Given the description of an element on the screen output the (x, y) to click on. 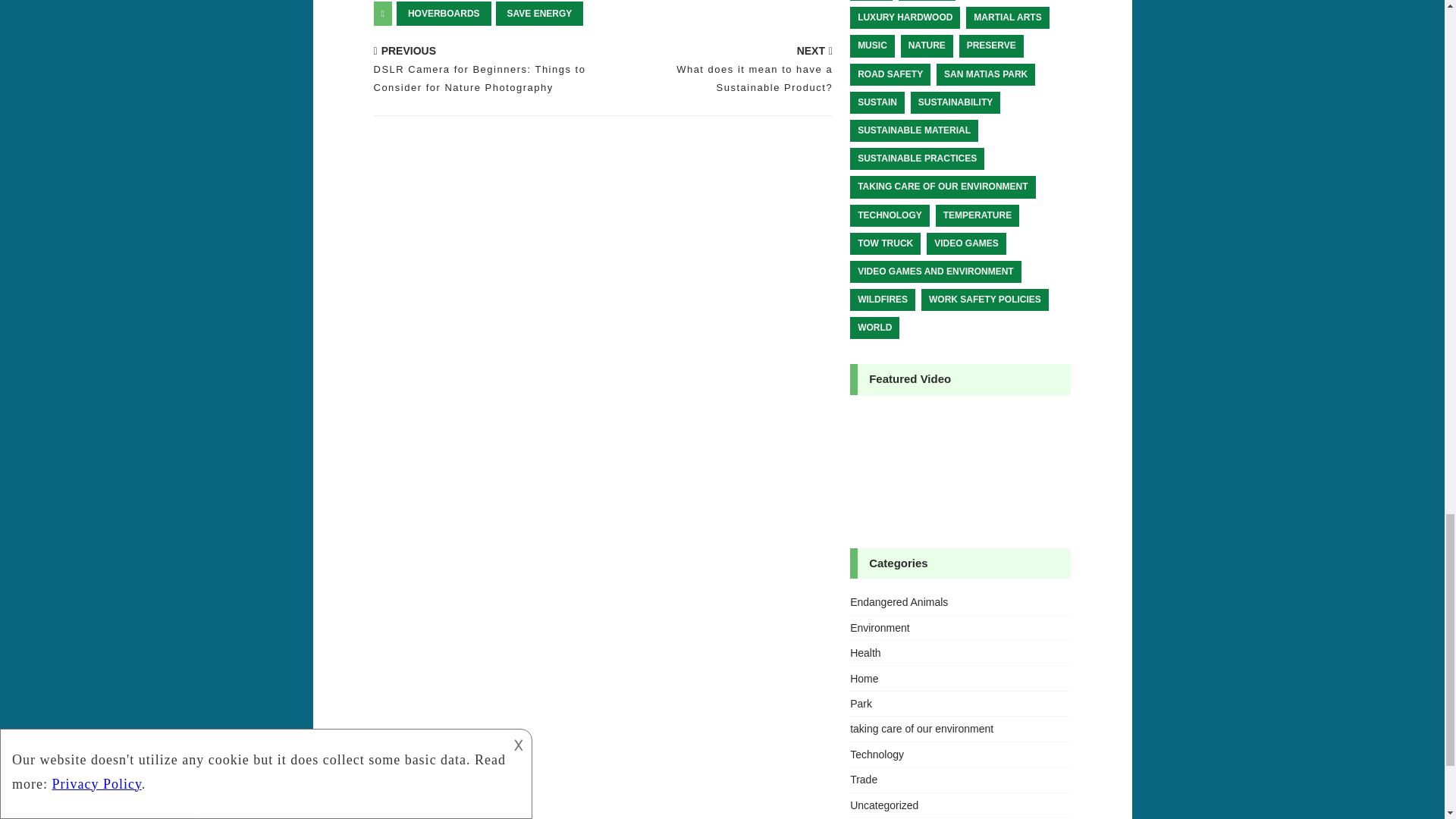
HOVERBOARDS (444, 13)
SAVE ENERGY (539, 13)
YouTube video player (960, 467)
